Given the description of an element on the screen output the (x, y) to click on. 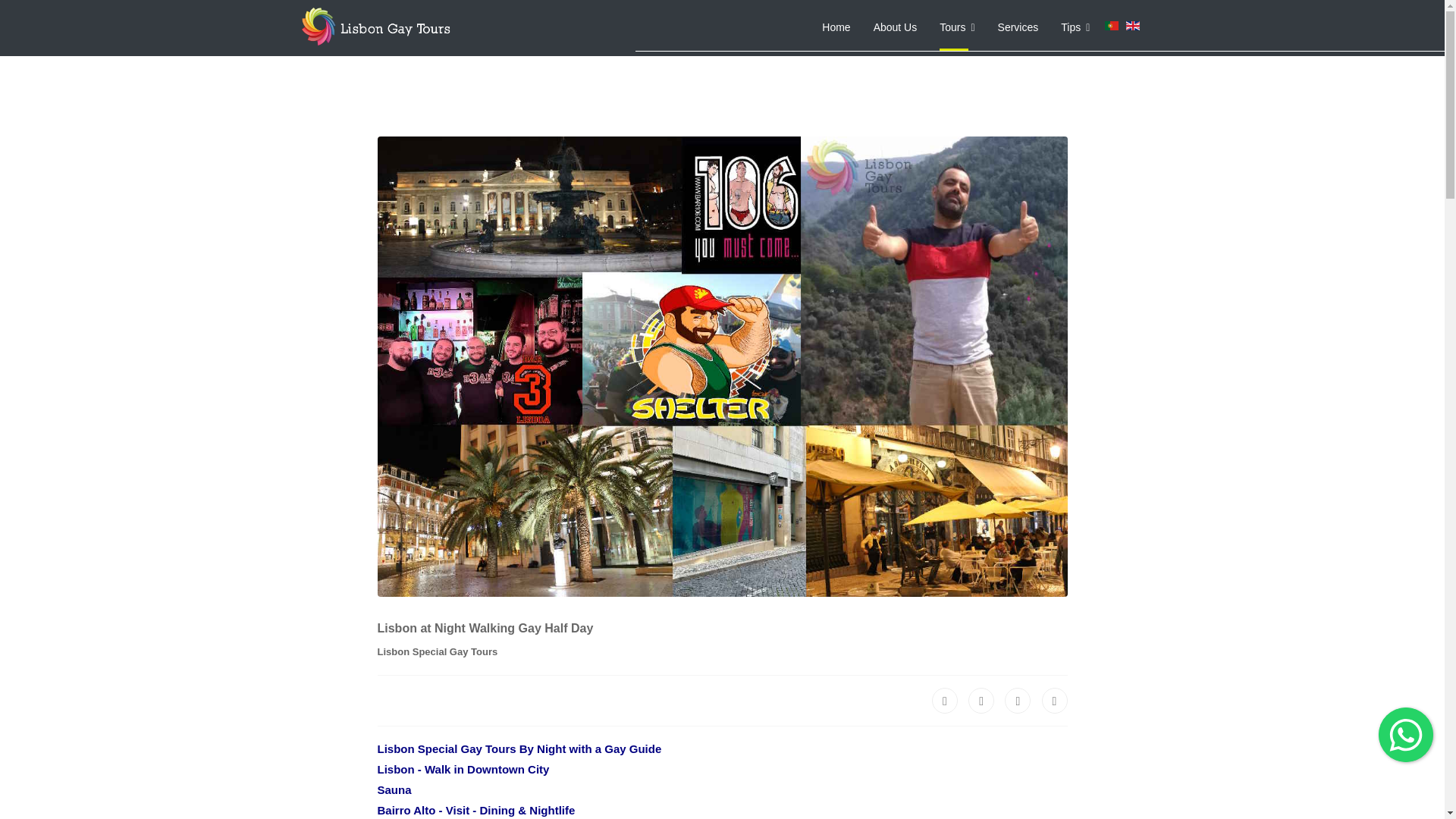
Category: Lisbon Special Gay Tours (437, 651)
Google Plus (1017, 700)
Twitter (981, 700)
LinkedIn (1054, 700)
Services (1018, 27)
Tips (1074, 27)
Lisbon Special Gay Tours (437, 651)
Tours (956, 27)
Facebook (944, 700)
About Us (895, 27)
Home (836, 27)
